Given the description of an element on the screen output the (x, y) to click on. 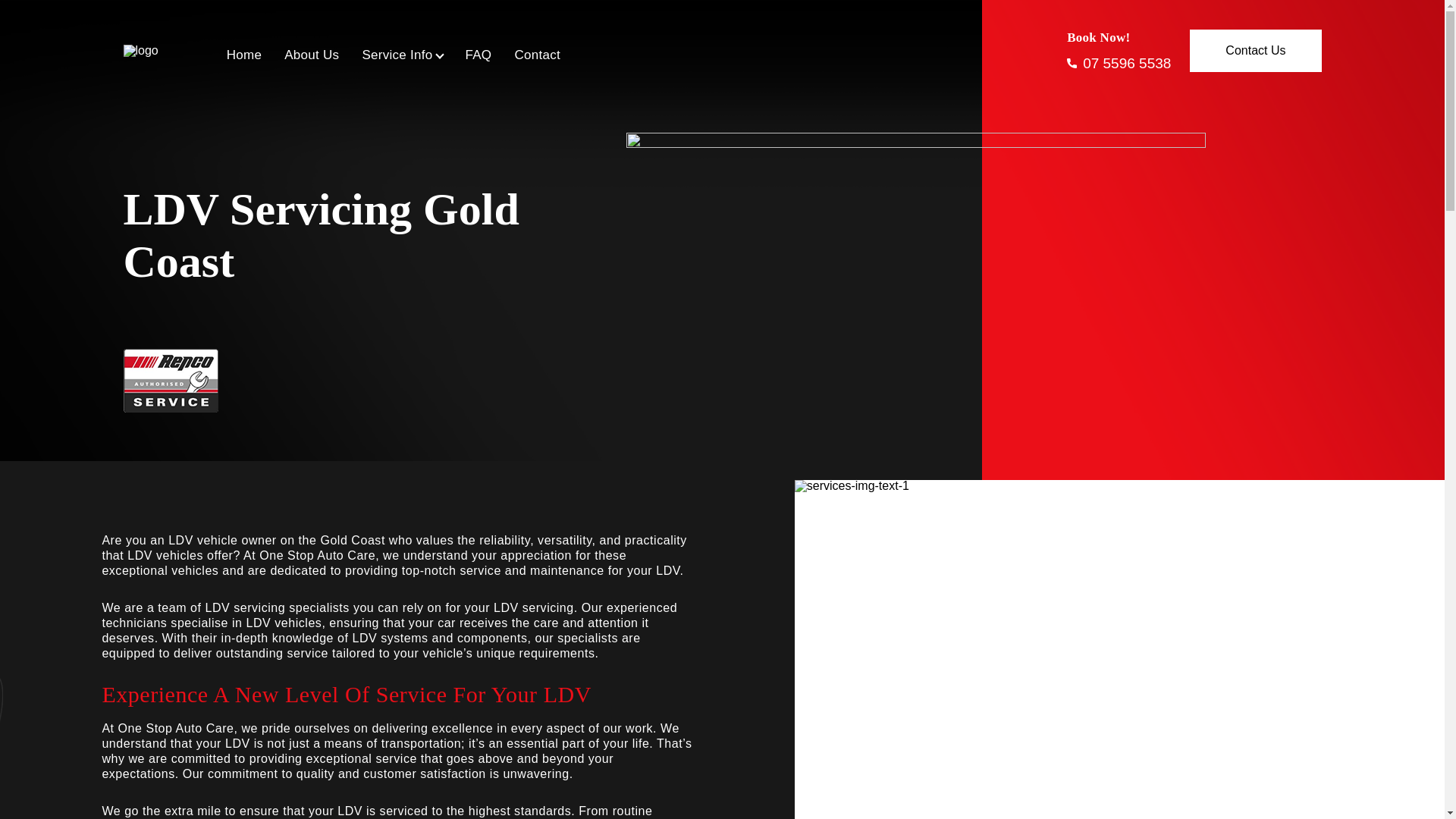
Service Info (396, 54)
About Us (311, 54)
07 5596 5538 (1118, 63)
Home (244, 54)
Contact (536, 54)
Contact Us (1254, 49)
